Given the description of an element on the screen output the (x, y) to click on. 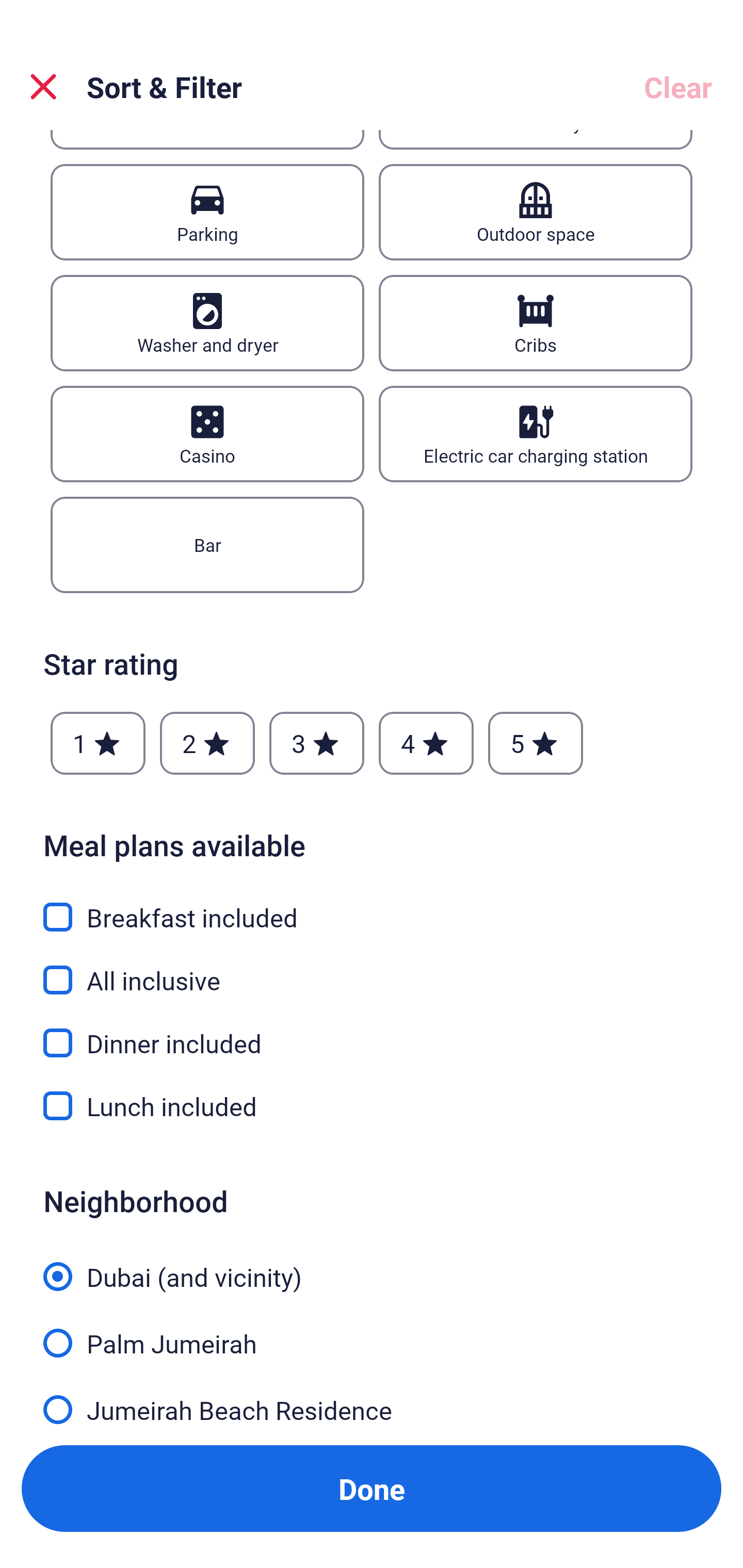
Close Sort and Filter (43, 86)
Clear (677, 86)
Parking (207, 212)
Outdoor space (535, 212)
Washer and dryer (207, 322)
Cribs (535, 322)
Casino (207, 433)
Electric car charging station (535, 433)
Bar (207, 544)
1 (97, 743)
2 (206, 743)
3 (316, 743)
4 (426, 743)
5 (535, 743)
Breakfast included, Breakfast included (371, 905)
All inclusive, All inclusive (371, 968)
Dinner included, Dinner included (371, 1031)
Lunch included, Lunch included (371, 1106)
Palm Jumeirah (371, 1331)
Jumeirah Beach Residence (371, 1405)
Apply and close Sort and Filter Done (371, 1488)
